Given the description of an element on the screen output the (x, y) to click on. 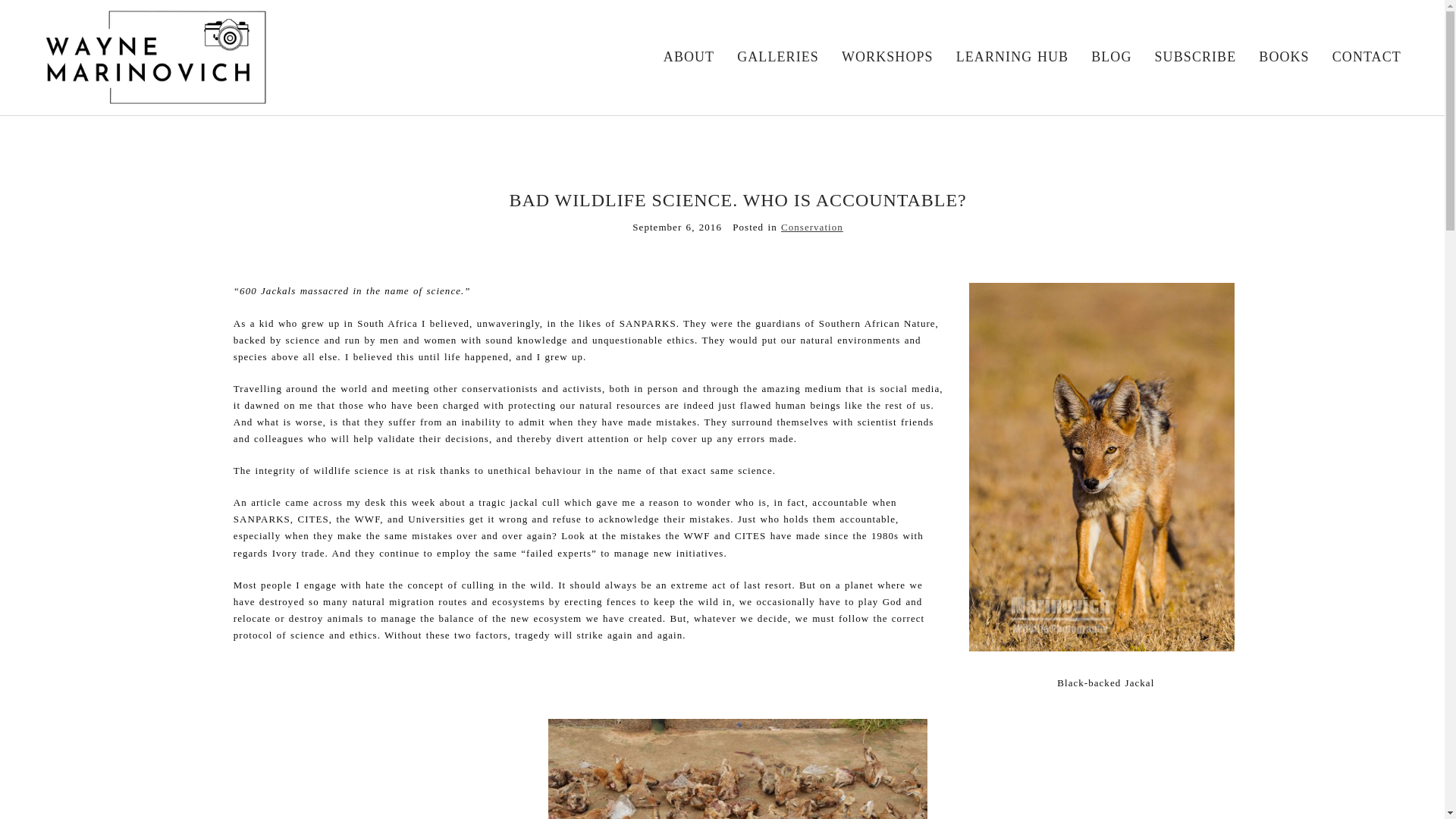
BLOG (1110, 56)
GALLERIES (777, 56)
Conservation (811, 226)
BOOKS (1283, 56)
ABOUT (688, 56)
CONTACT (1366, 56)
LEARNING HUB (1012, 56)
WORKSHOPS (887, 56)
SUBSCRIBE (1195, 56)
